Given the description of an element on the screen output the (x, y) to click on. 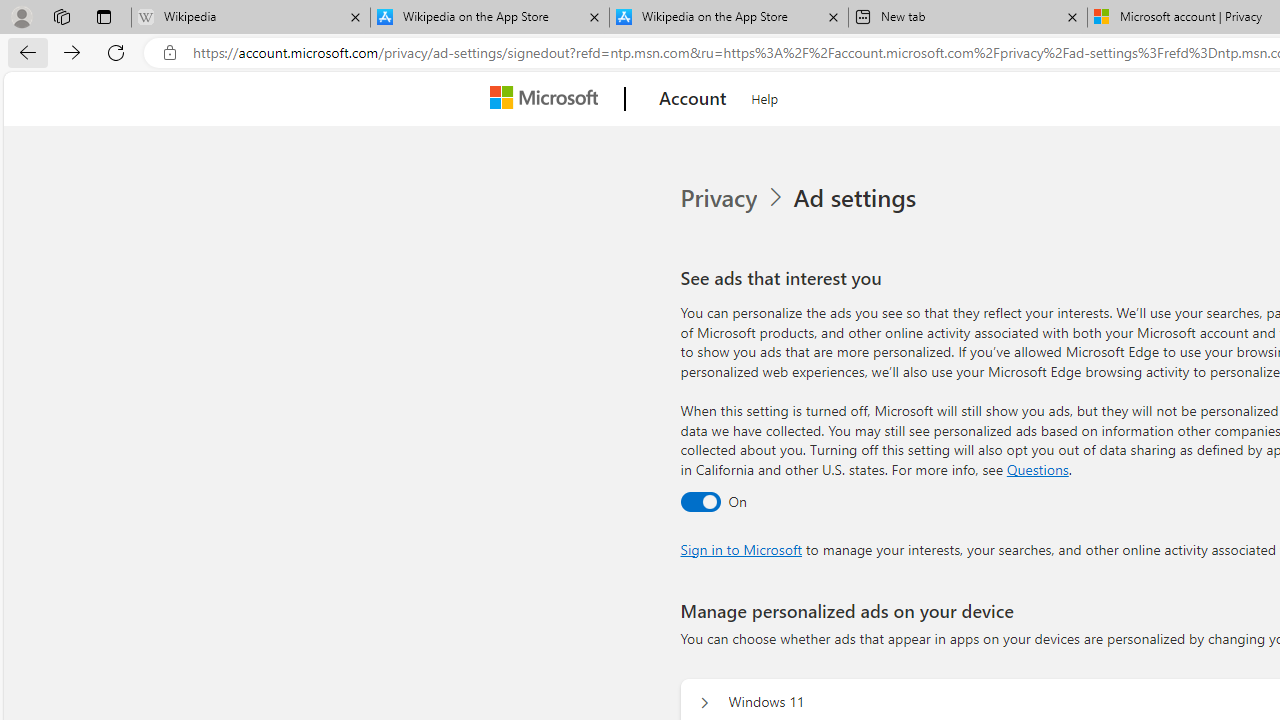
Tab actions menu (104, 16)
Sign in to Microsoft (740, 548)
Workspaces (61, 16)
Ad settings (858, 197)
Back (24, 52)
Privacy (720, 197)
Help (765, 96)
Manage personalized ads on your device Windows 11 (704, 702)
Privacy (734, 197)
Wikipedia - Sleeping (250, 17)
Account (692, 99)
Ad settings toggle (699, 501)
Forward (72, 52)
New tab (967, 17)
